Given the description of an element on the screen output the (x, y) to click on. 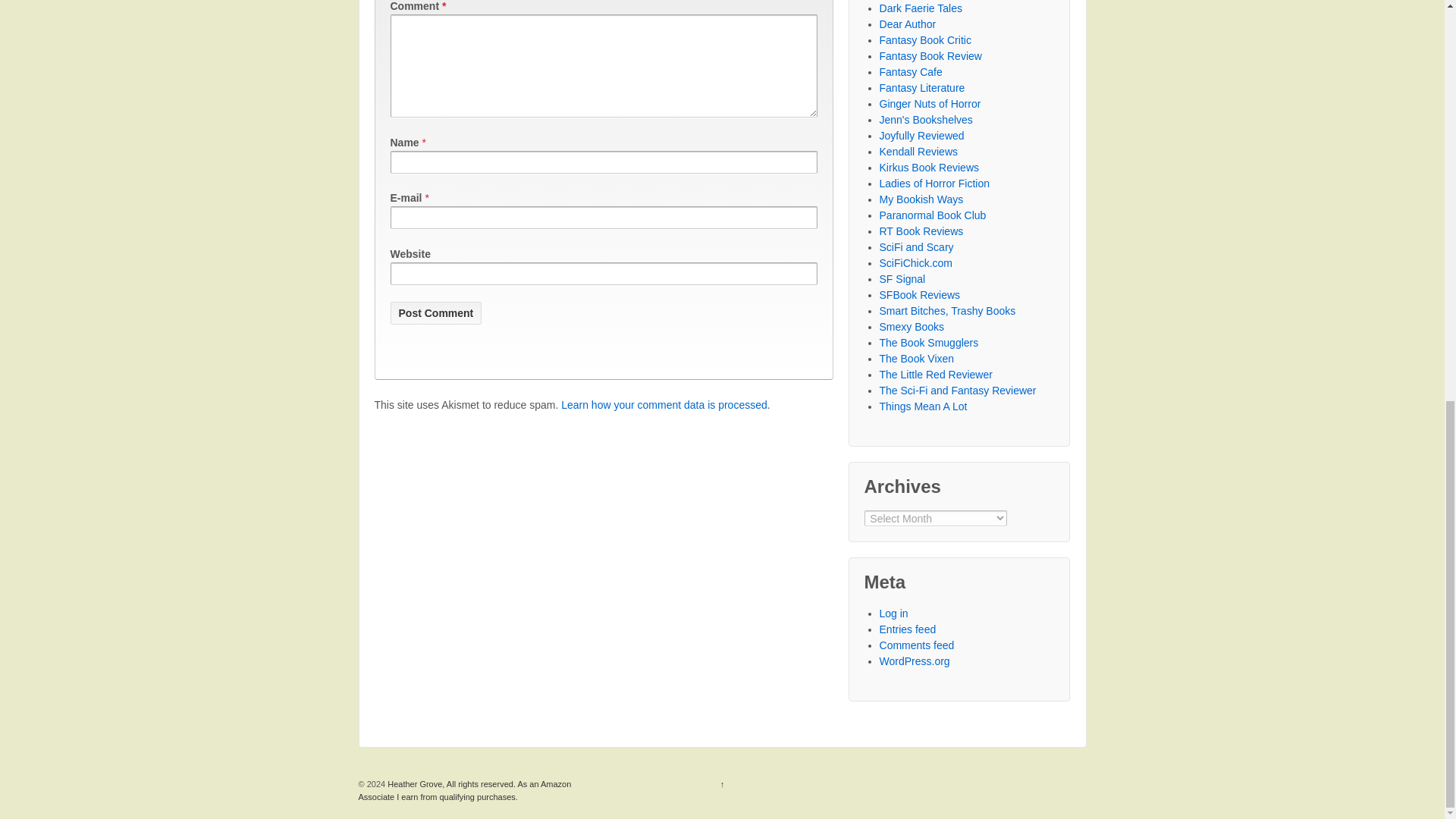
Learn how your comment data is processed (663, 404)
Post Comment (435, 313)
Post Comment (435, 313)
